Given the description of an element on the screen output the (x, y) to click on. 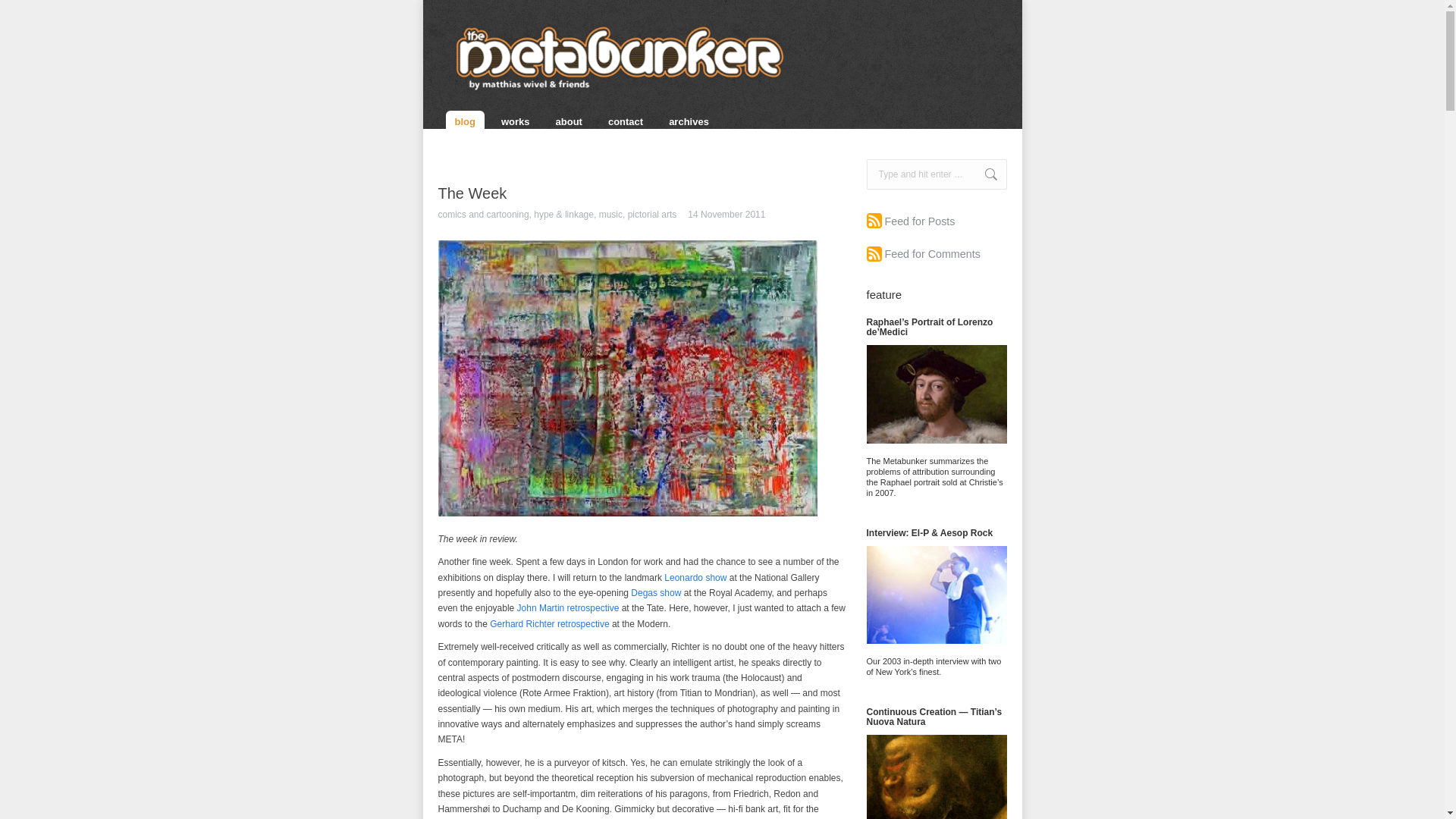
John Martin retrospective (568, 607)
archives (688, 121)
Leonardo show (694, 577)
Gerhard Richter retrospective (548, 624)
02:55 (726, 214)
The Week (472, 193)
contact (625, 121)
The Week (472, 193)
14 November 2011 (726, 214)
works (515, 121)
pictorial arts (652, 214)
comics and cartooning (483, 214)
Go! (982, 173)
Go! (982, 173)
music (610, 214)
